Given the description of an element on the screen output the (x, y) to click on. 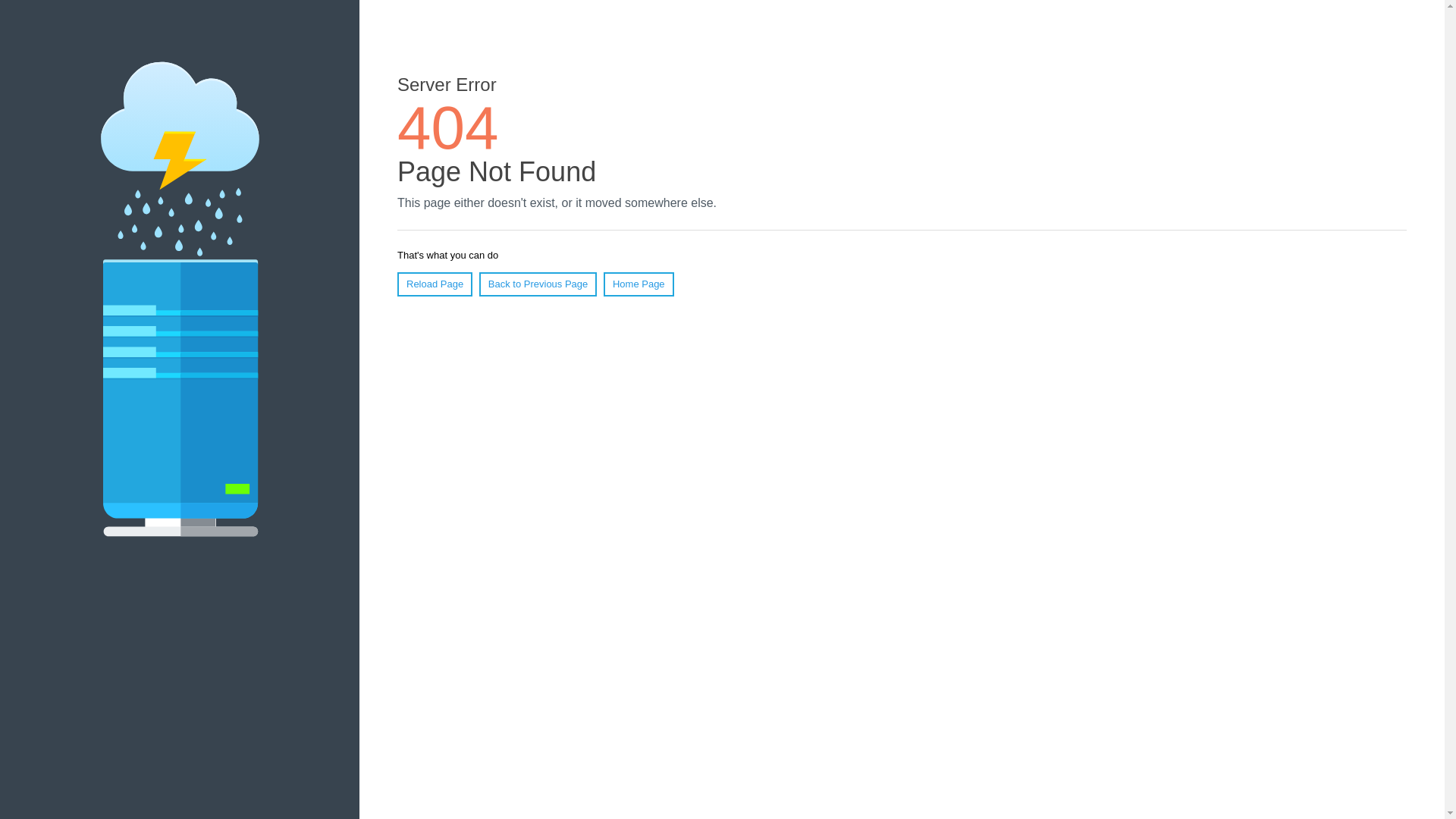
Back to Previous Page Element type: text (538, 284)
Reload Page Element type: text (434, 284)
Home Page Element type: text (638, 284)
